Given the description of an element on the screen output the (x, y) to click on. 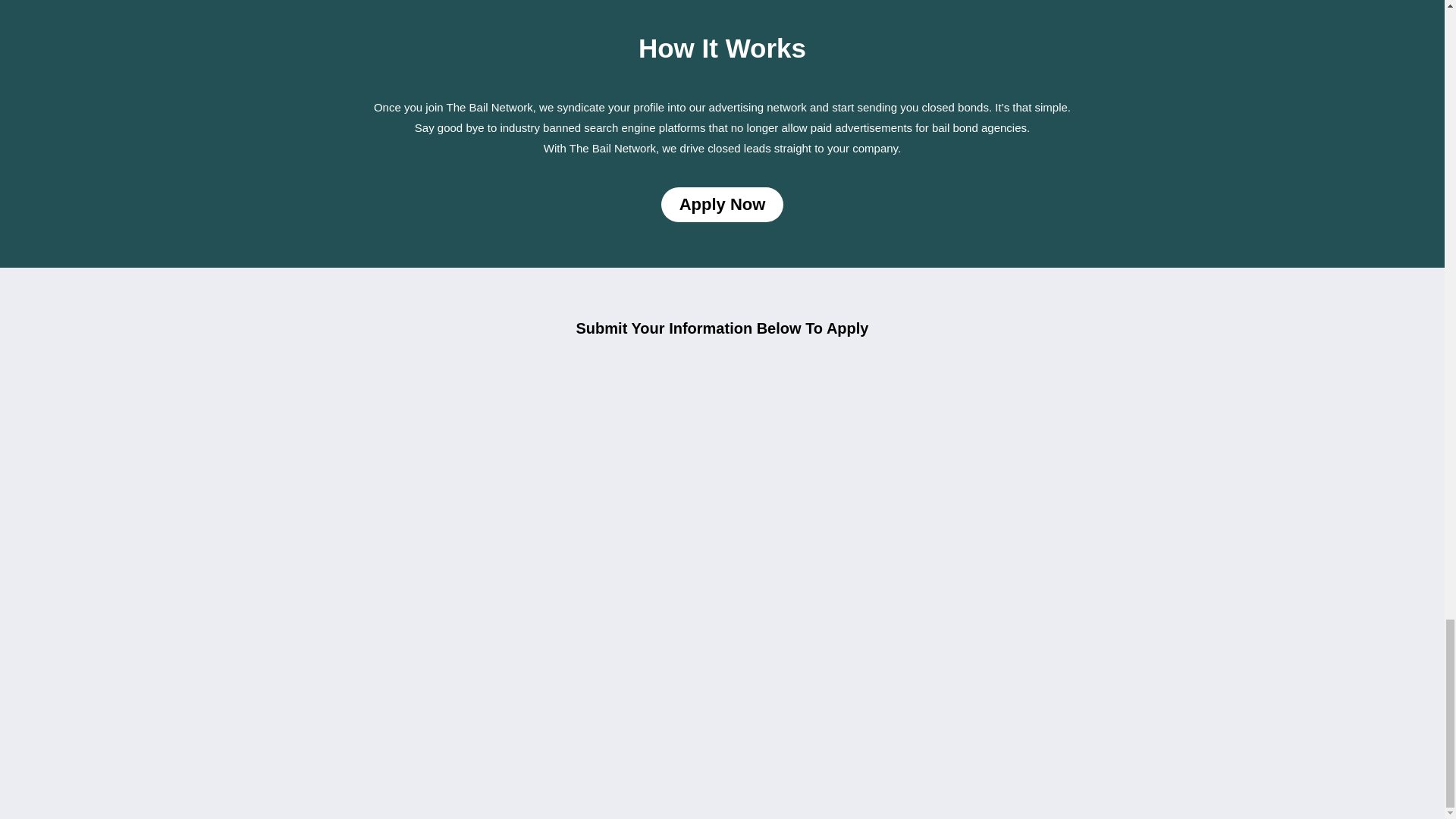
Apply Now (722, 204)
